Given the description of an element on the screen output the (x, y) to click on. 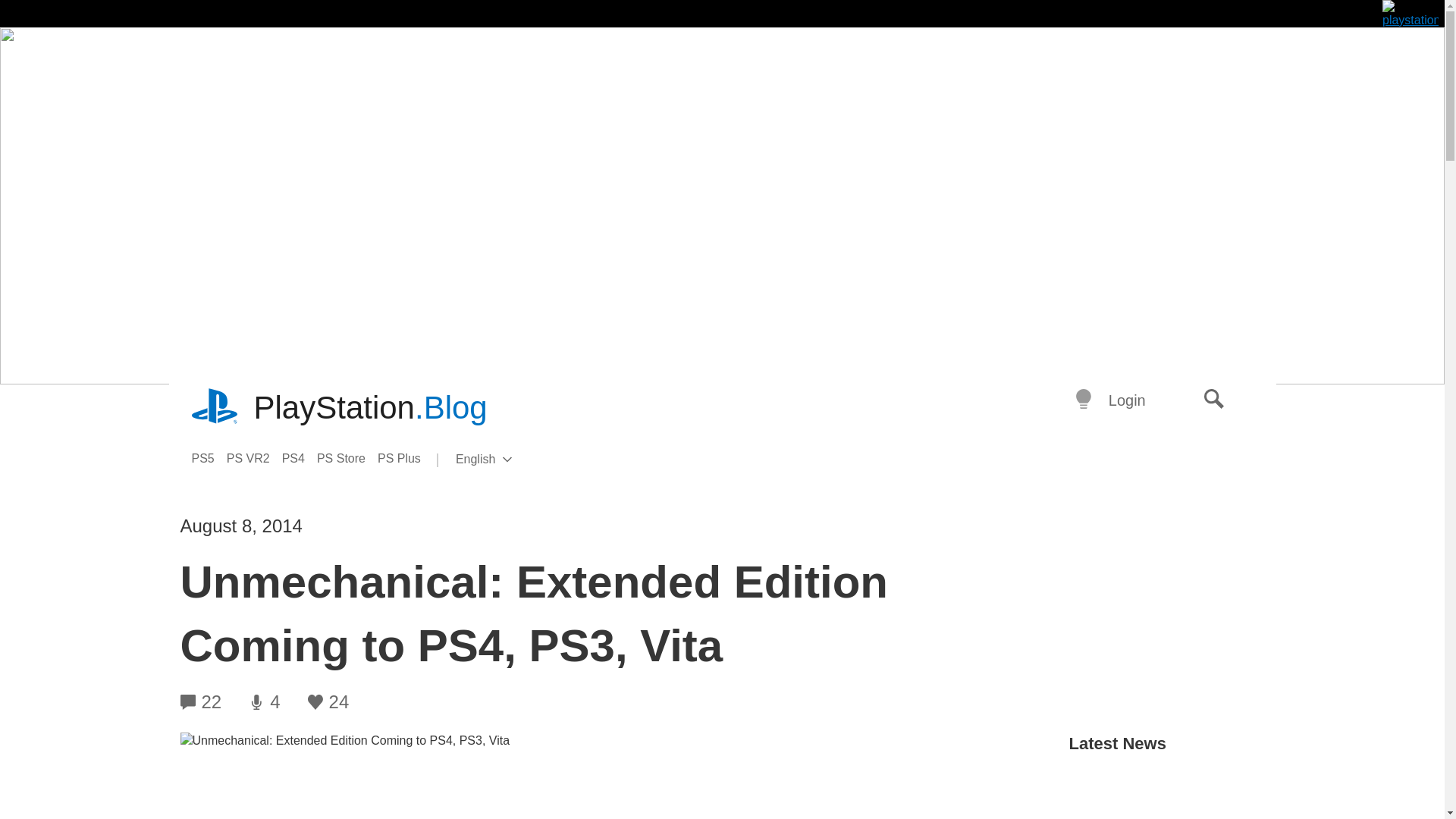
PlayStation.Blog (369, 407)
Search (1214, 400)
Login (1126, 400)
PS Plus (404, 458)
PS5 (207, 458)
PS4 (299, 458)
playstation.com (508, 459)
PS VR2 (215, 408)
Skip to content (254, 458)
